Given the description of an element on the screen output the (x, y) to click on. 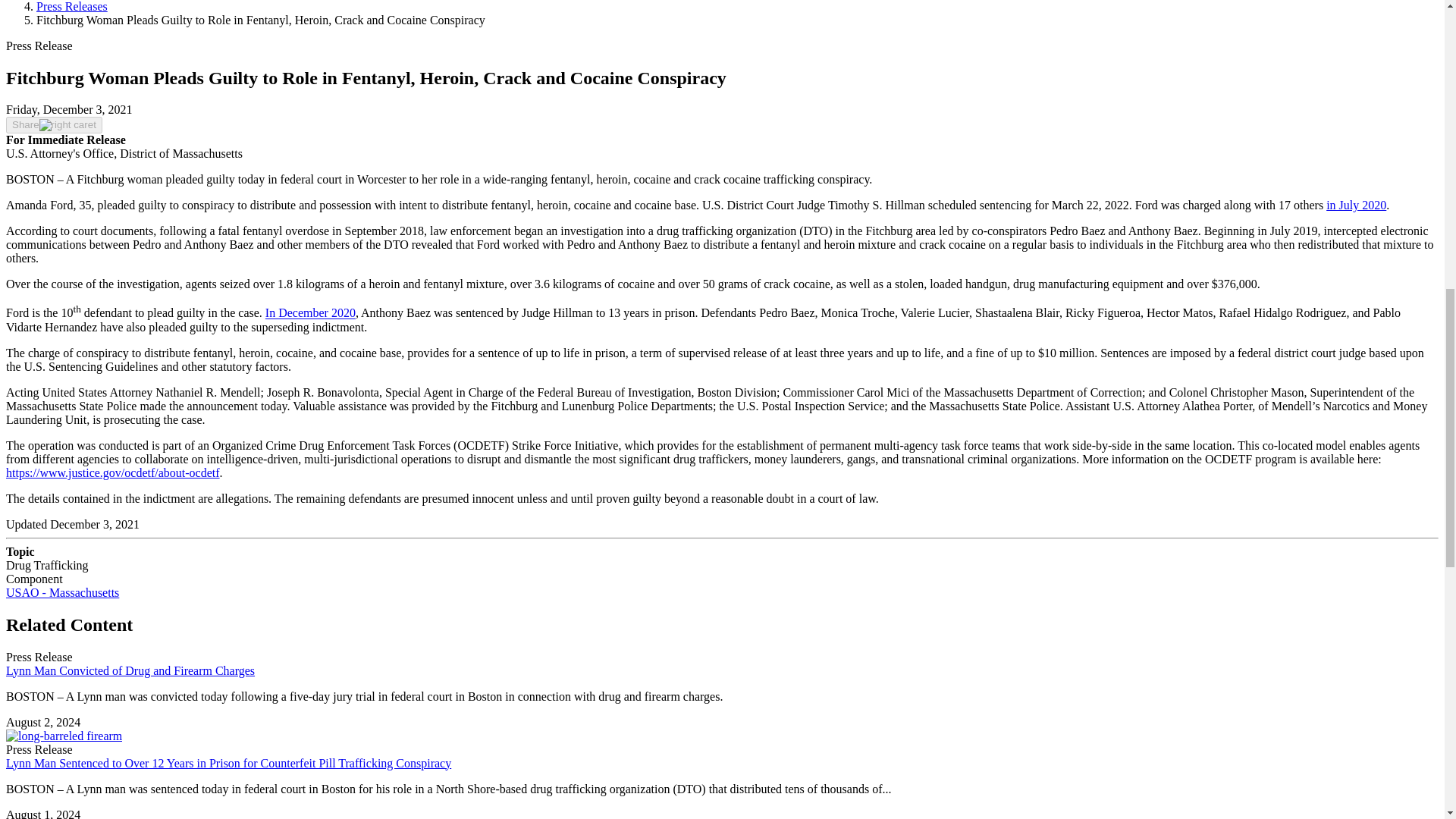
in July 2020 (1356, 205)
Press Releases (71, 6)
Share (53, 125)
